Given the description of an element on the screen output the (x, y) to click on. 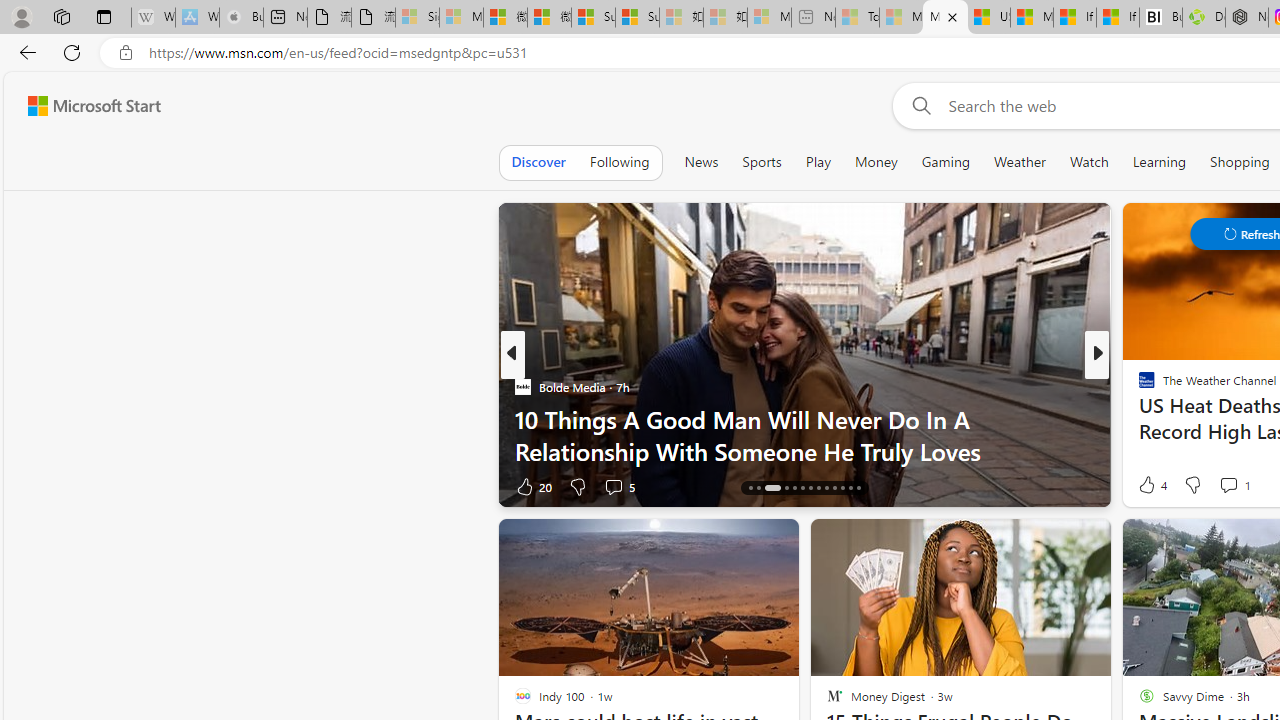
AutomationID: tab-24 (842, 487)
Learning (1159, 161)
AutomationID: tab-15 (757, 487)
4 Like (1151, 484)
View comments 13 Comment (11, 485)
View comments 339 Comment (1234, 485)
AutomationID: tab-18 (793, 487)
5k Like (1148, 486)
AutomationID: tab-20 (810, 487)
516 Like (1151, 486)
